Given the description of an element on the screen output the (x, y) to click on. 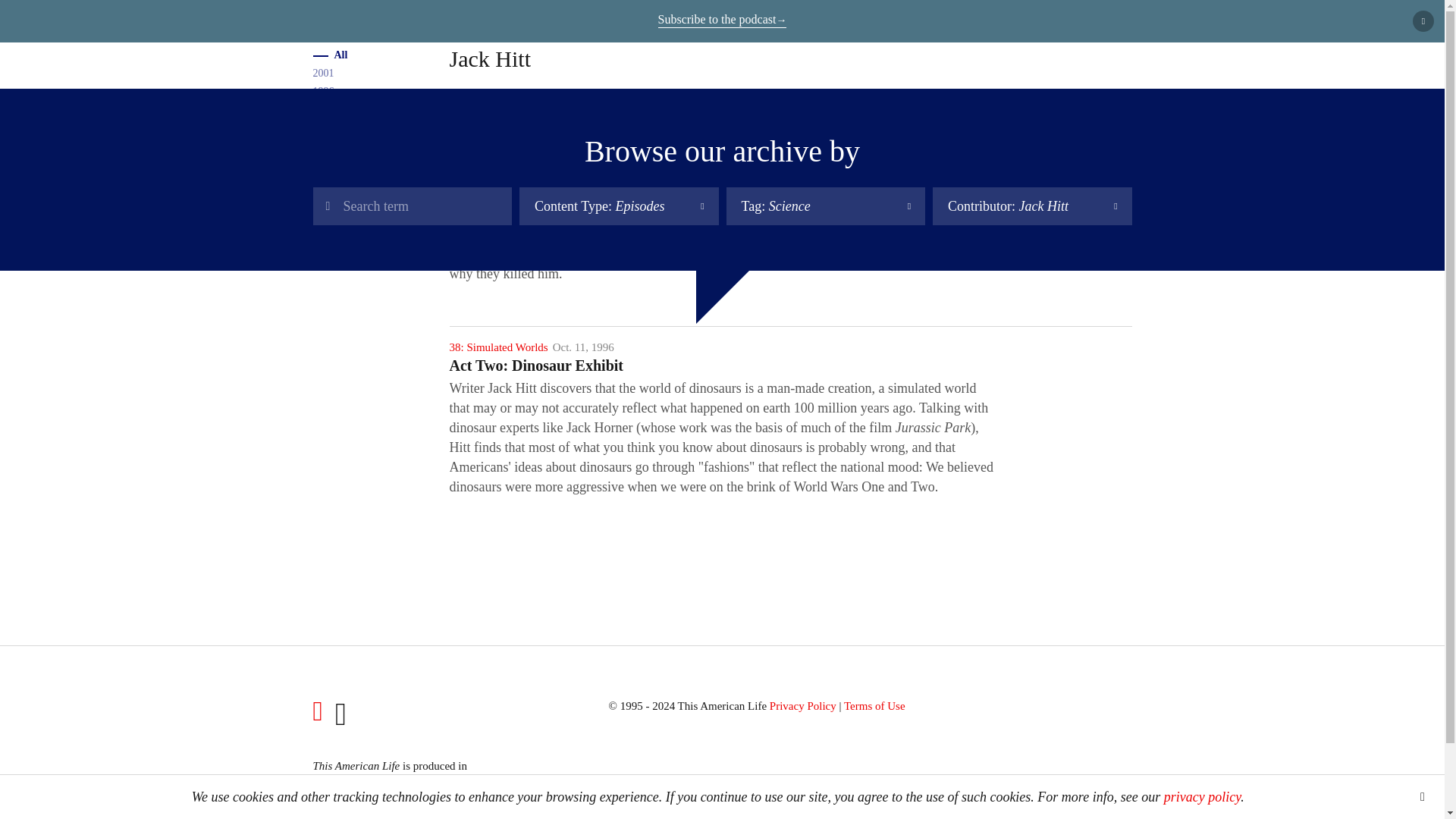
privacy policy (1201, 796)
This American Life (312, 23)
